Given the description of an element on the screen output the (x, y) to click on. 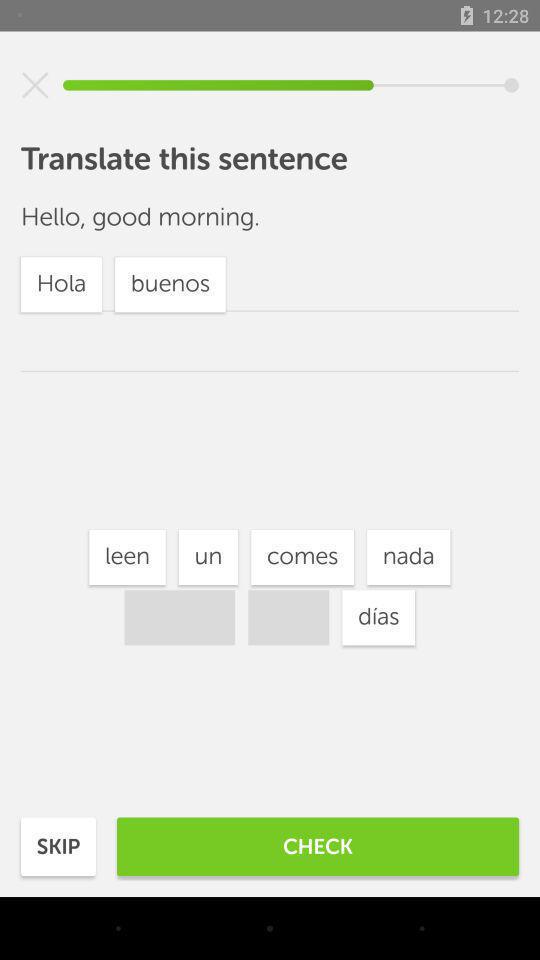
exit session (35, 85)
